Given the description of an element on the screen output the (x, y) to click on. 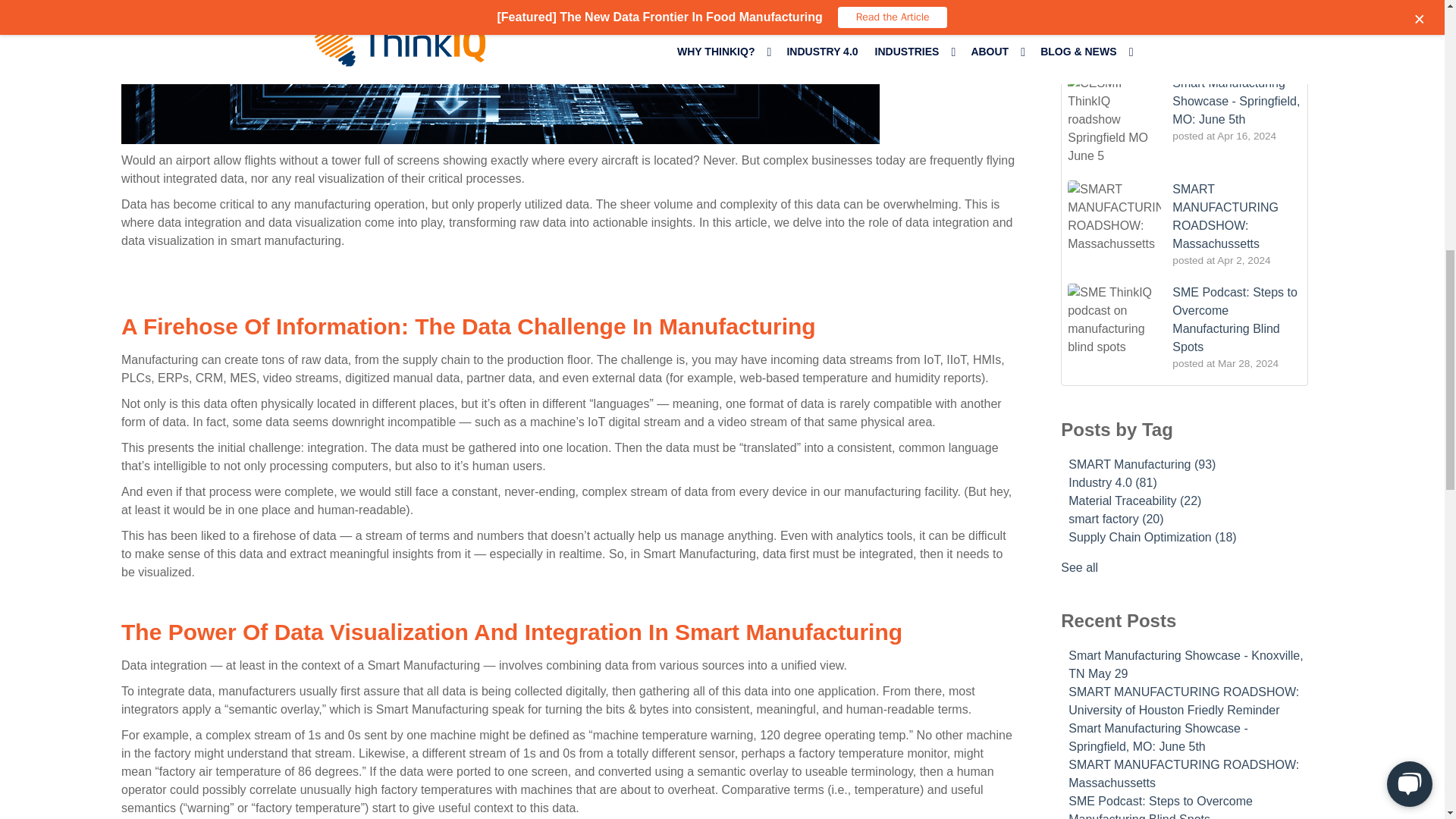
SMART MANUFACTURING ROADSHOW: Massachussetts (1225, 216)
SME Podcast: Steps to Overcome Manufacturing Blind Spots (1234, 318)
Smart Manufacturing Showcase - Springfield, MO: June 5th (1236, 101)
